Given the description of an element on the screen output the (x, y) to click on. 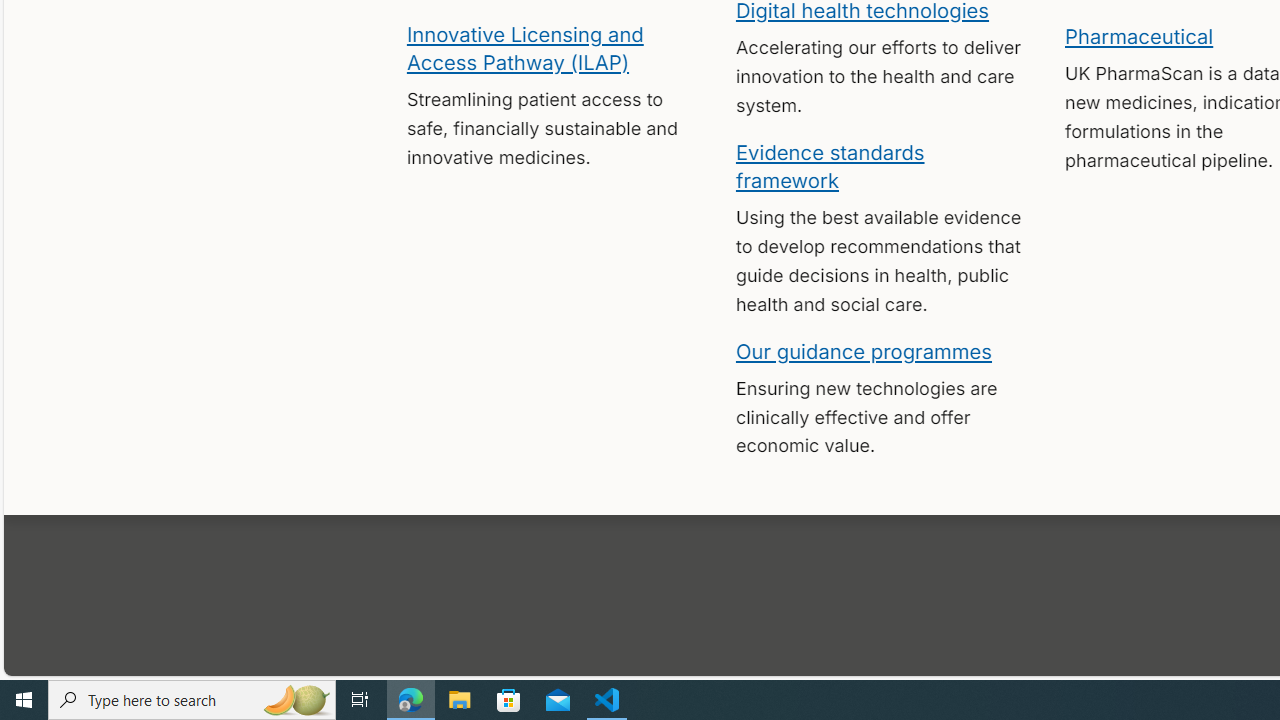
Pharmaceutical (1138, 35)
Evidence standards framework (829, 165)
Innovative Licensing and Access Pathway (ILAP) (524, 47)
Our guidance programmes (863, 350)
